Given the description of an element on the screen output the (x, y) to click on. 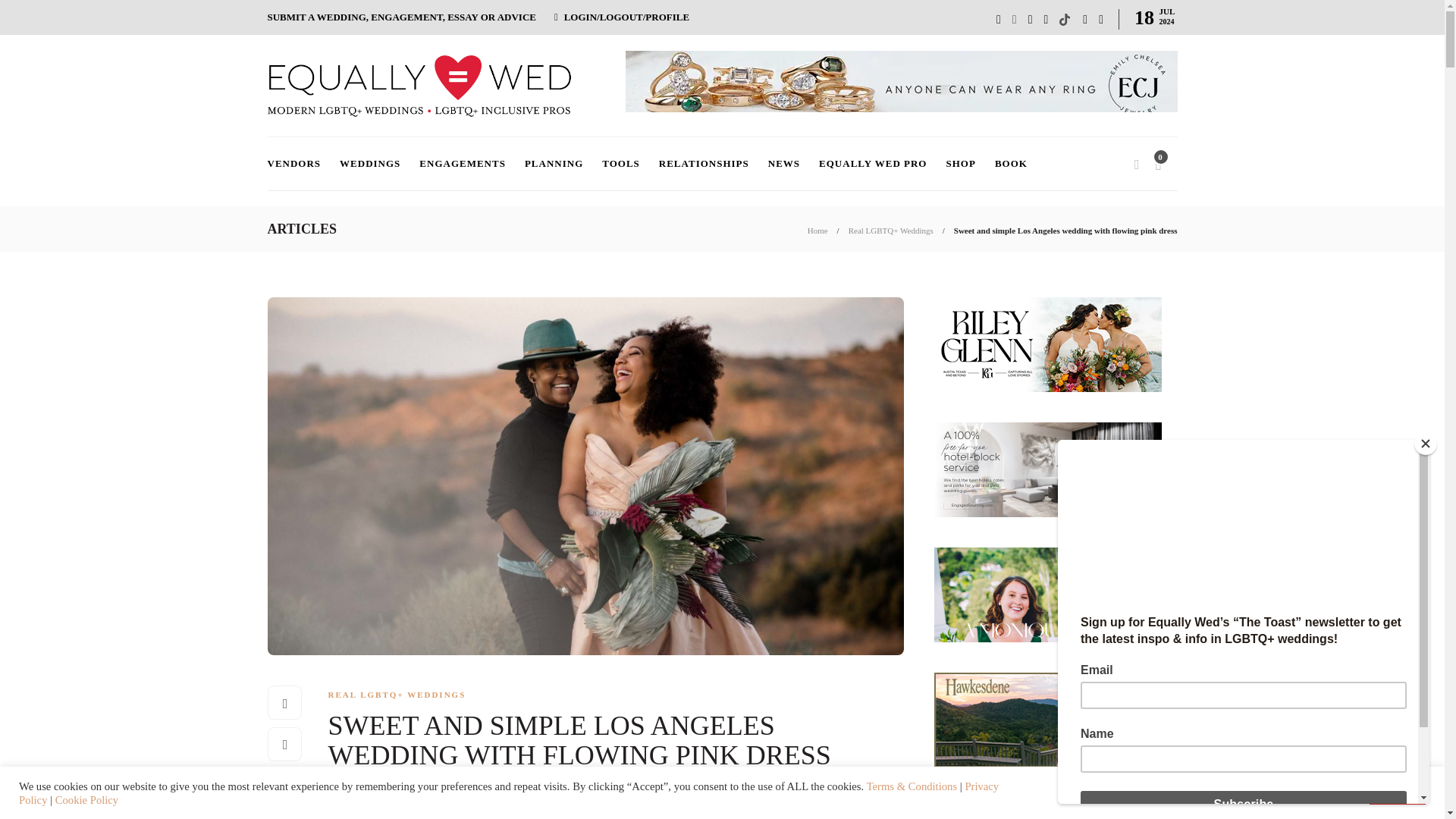
Sweet and simple Los Angeles wedding with flowing pink dress (1065, 230)
Home (818, 230)
